Given the description of an element on the screen output the (x, y) to click on. 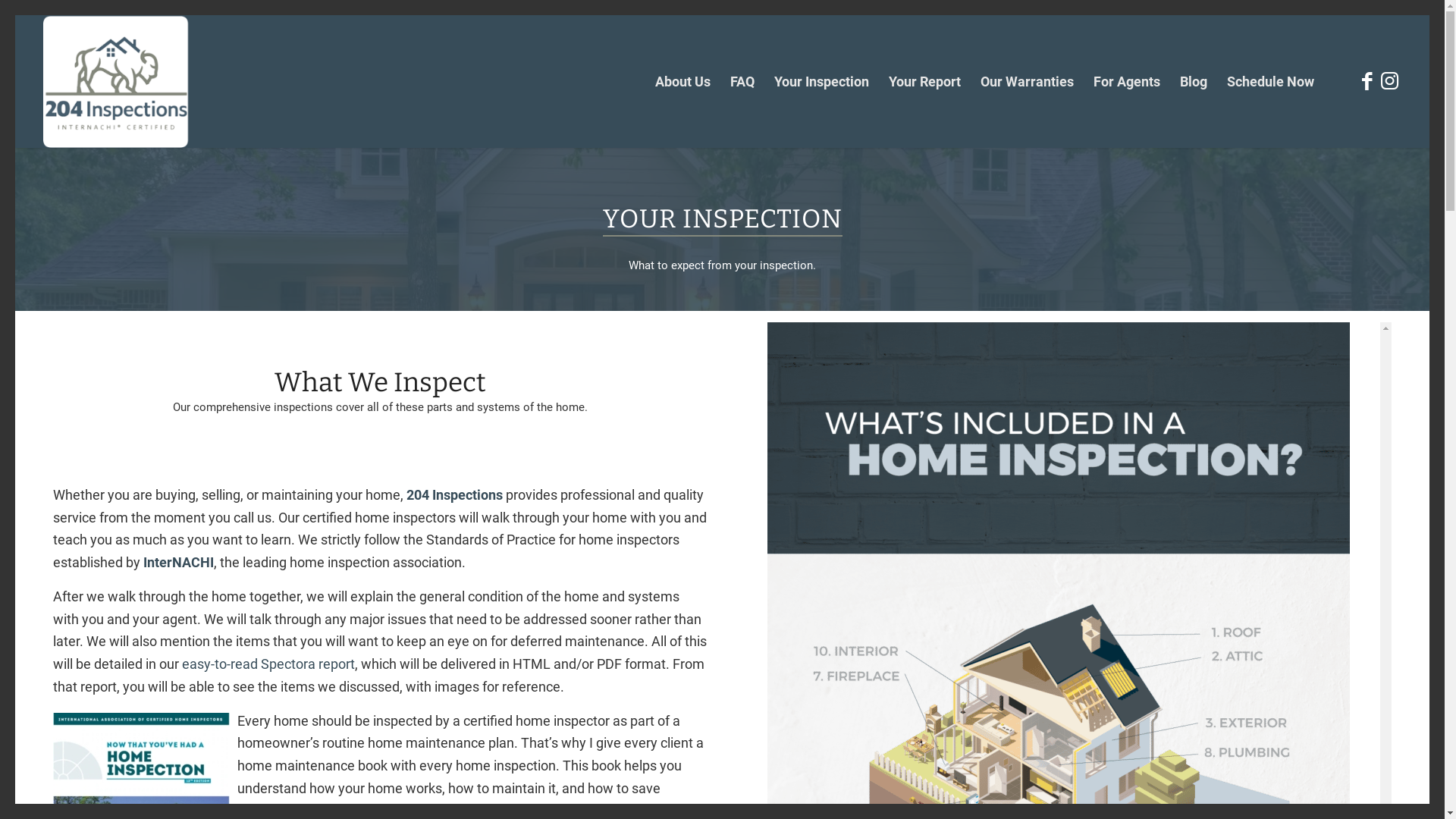
About Us Element type: text (682, 81)
Your Inspection Element type: text (821, 81)
Facebook Element type: hover (1366, 80)
Our Warranties Element type: text (1026, 81)
For Agents Element type: text (1126, 81)
easy-to-read Spectora report Element type: text (268, 663)
Blog Element type: text (1193, 81)
Schedule Now Element type: text (1270, 81)
Instagram Element type: hover (1389, 80)
Your Report Element type: text (924, 81)
FAQ Element type: text (742, 81)
